Given the description of an element on the screen output the (x, y) to click on. 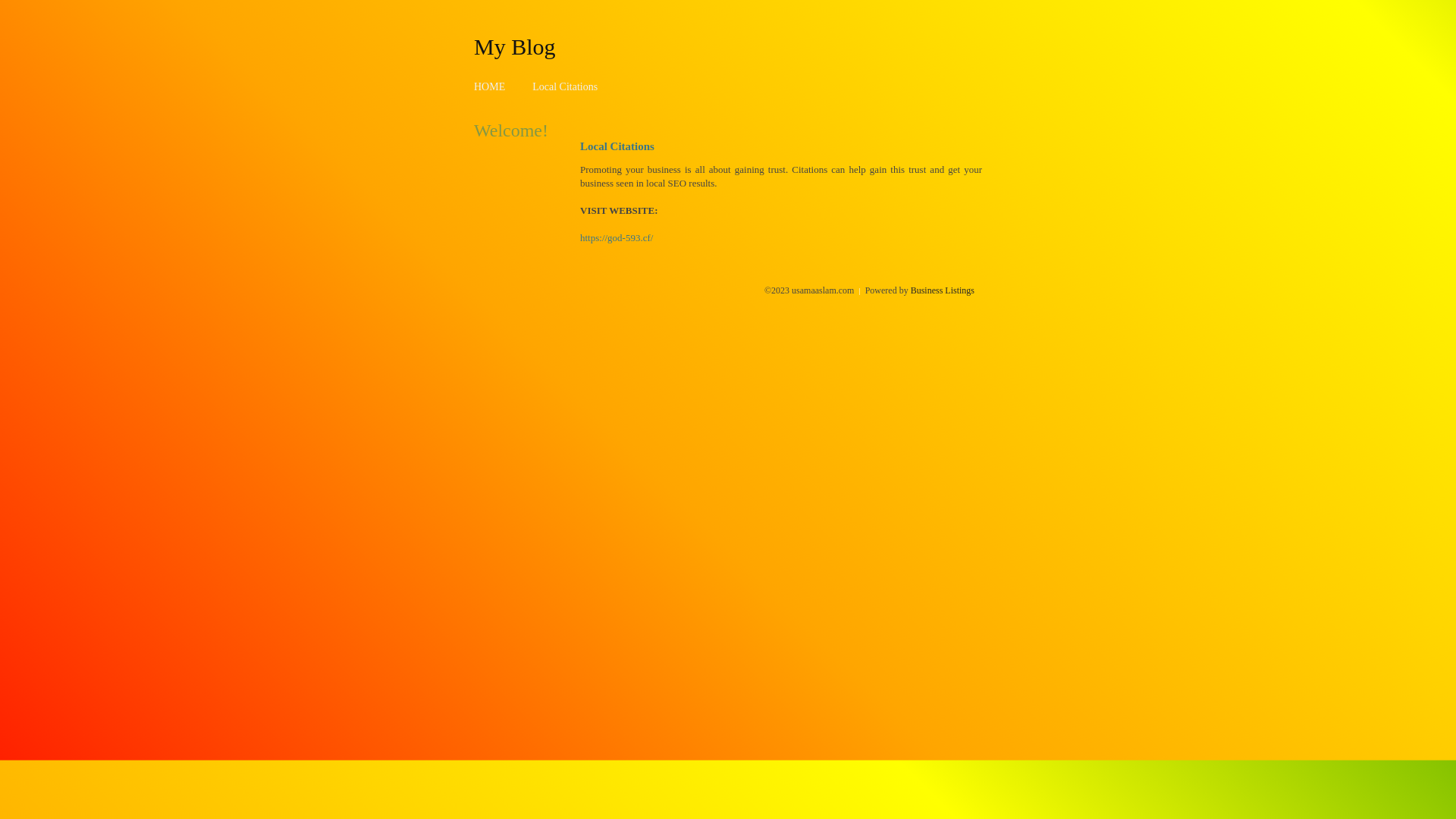
Local Citations Element type: text (564, 86)
Business Listings Element type: text (942, 290)
My Blog Element type: text (514, 46)
HOME Element type: text (489, 86)
https://god-593.cf/ Element type: text (616, 237)
